Given the description of an element on the screen output the (x, y) to click on. 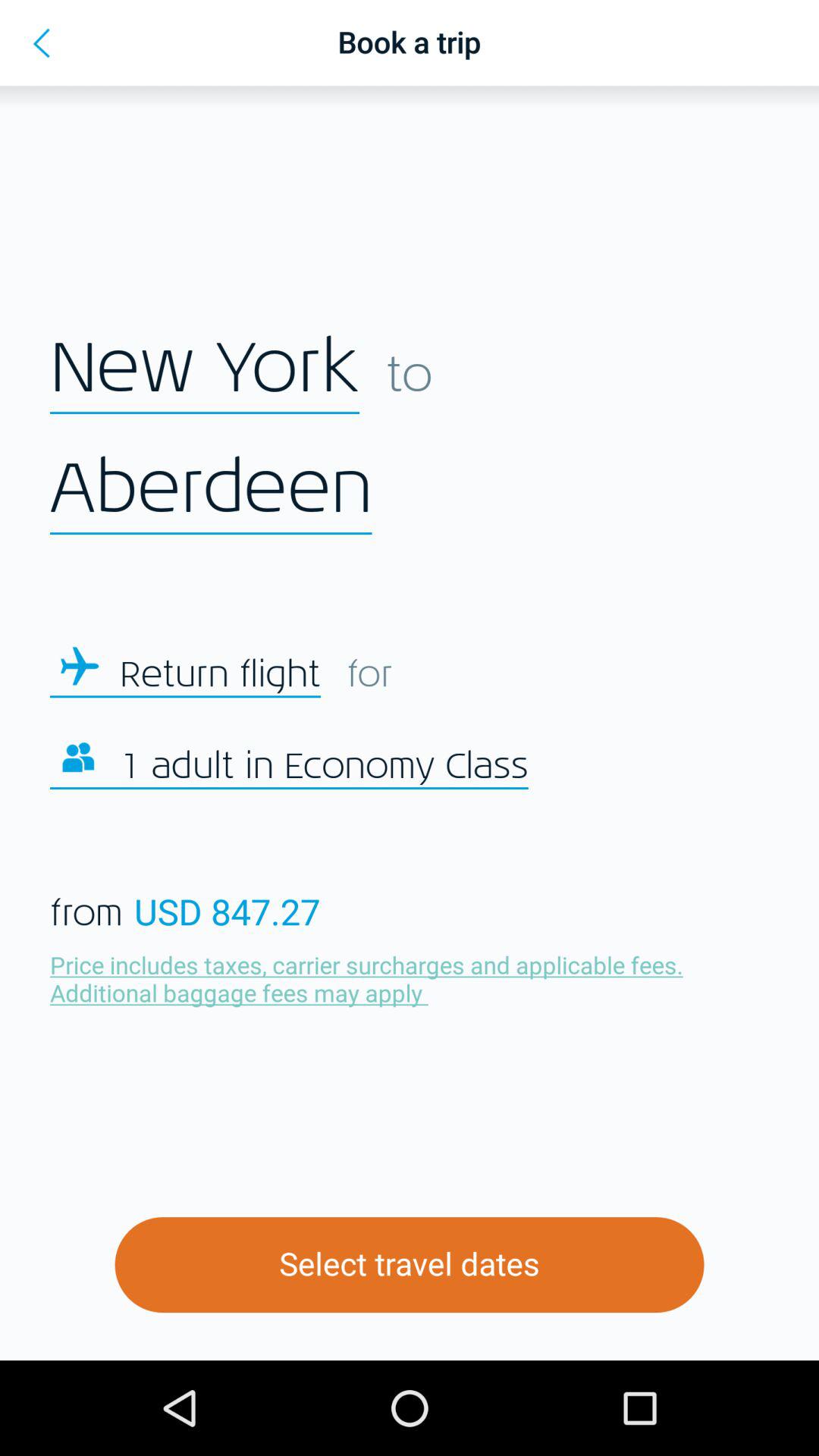
jump until price includes taxes item (370, 978)
